Given the description of an element on the screen output the (x, y) to click on. 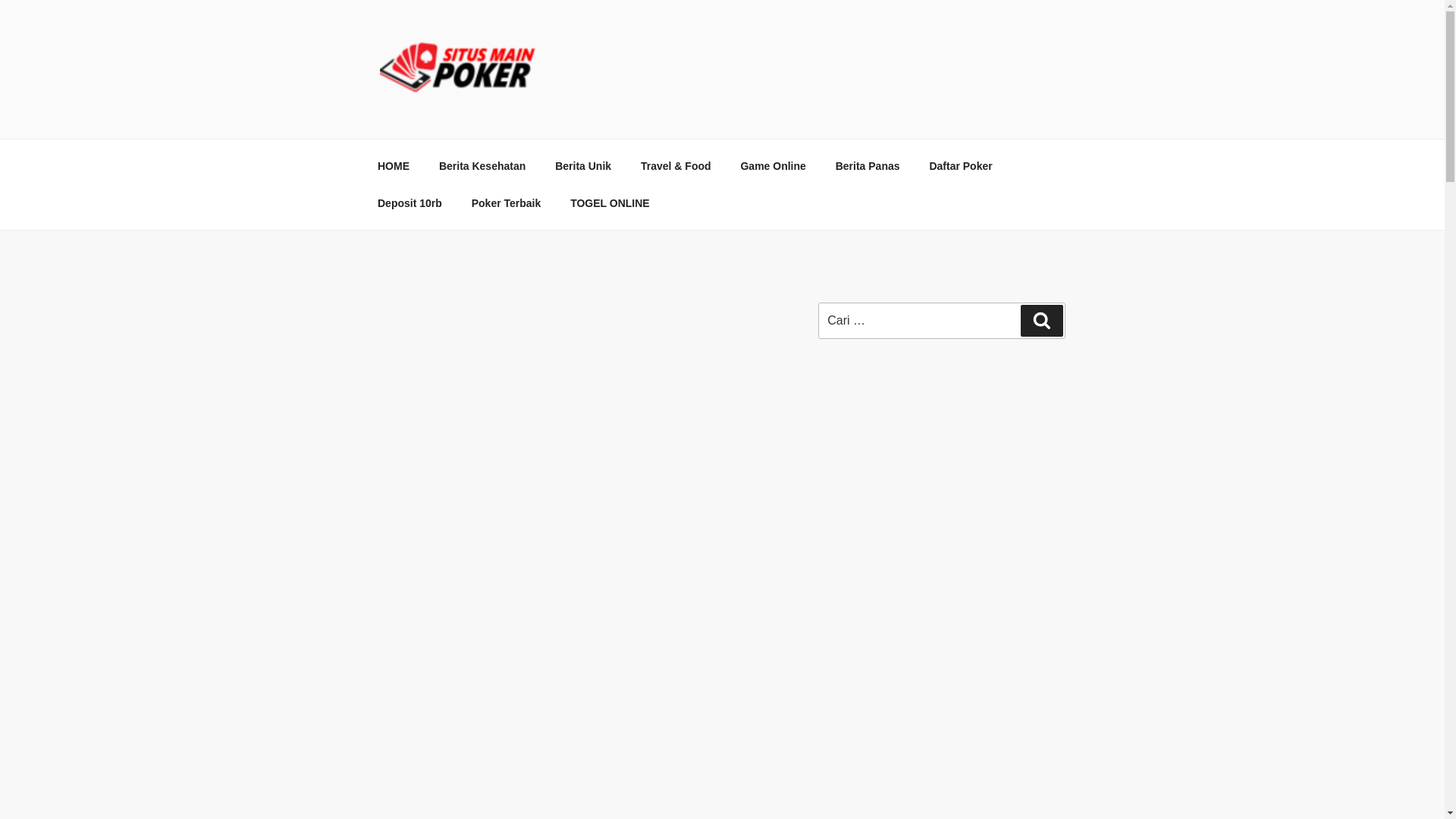
Deposit 10rb (409, 203)
Mei 2024 (839, 644)
Poker Terbaik (506, 203)
SITUSMAINPOKER (561, 302)
Cari (1041, 320)
What Is a Slot? (853, 441)
Berita Kesehatan (481, 165)
How to Become a Better Poker Player (907, 499)
Daftar Poker (960, 165)
Game Online (772, 165)
Juni 2024 (841, 616)
How to Win the Lottery (872, 470)
SITUSMAINPOKER.COM (557, 119)
How to Select a Casino Online (890, 413)
April 2024 (842, 673)
